Given the description of an element on the screen output the (x, y) to click on. 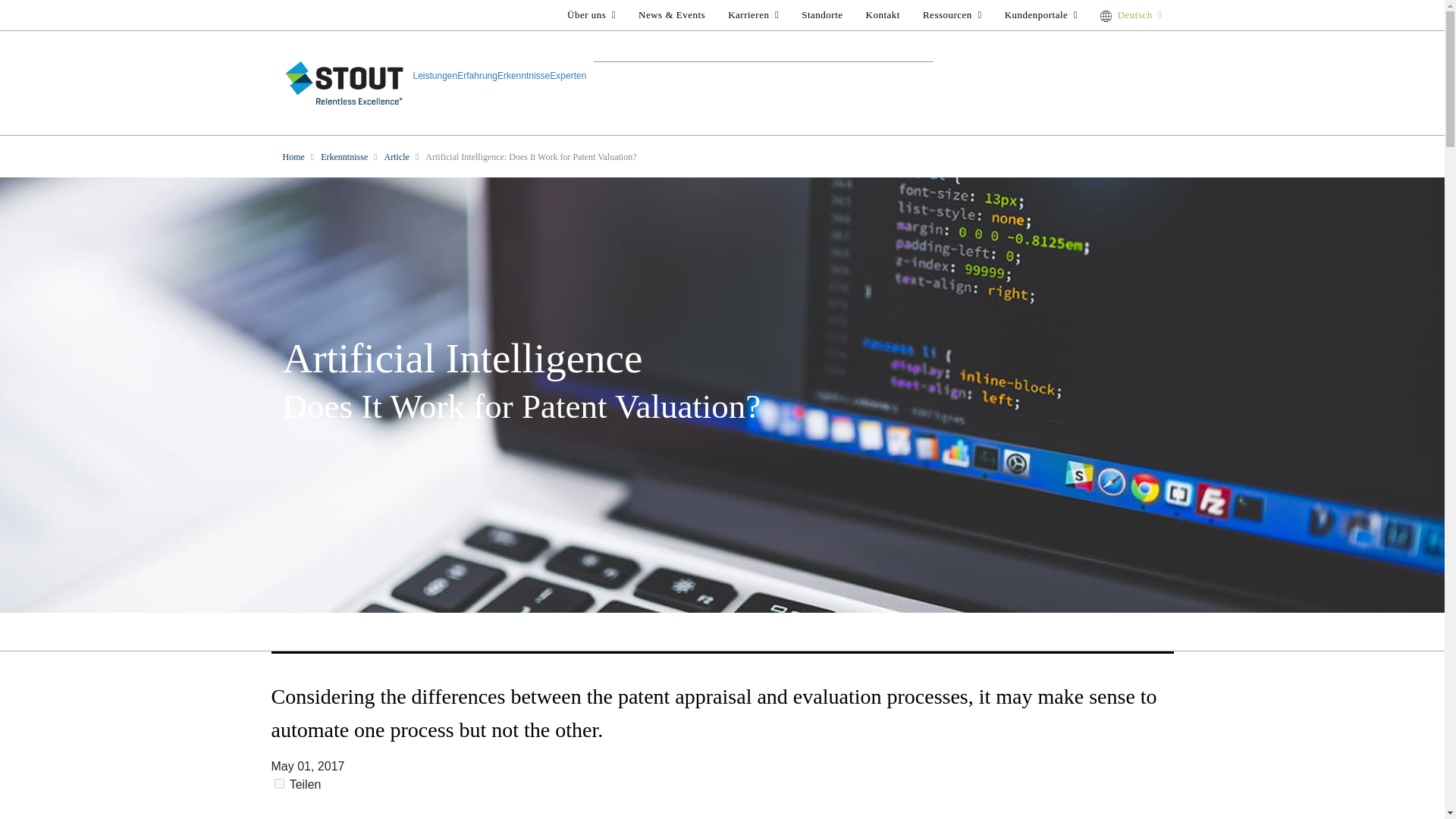
on (279, 783)
Ressourcen   (951, 14)
Kundenportale   (1040, 14)
Karrieren   (753, 14)
Standorte (821, 14)
Kontakt (882, 14)
  Deutsch   (1131, 14)
